Given the description of an element on the screen output the (x, y) to click on. 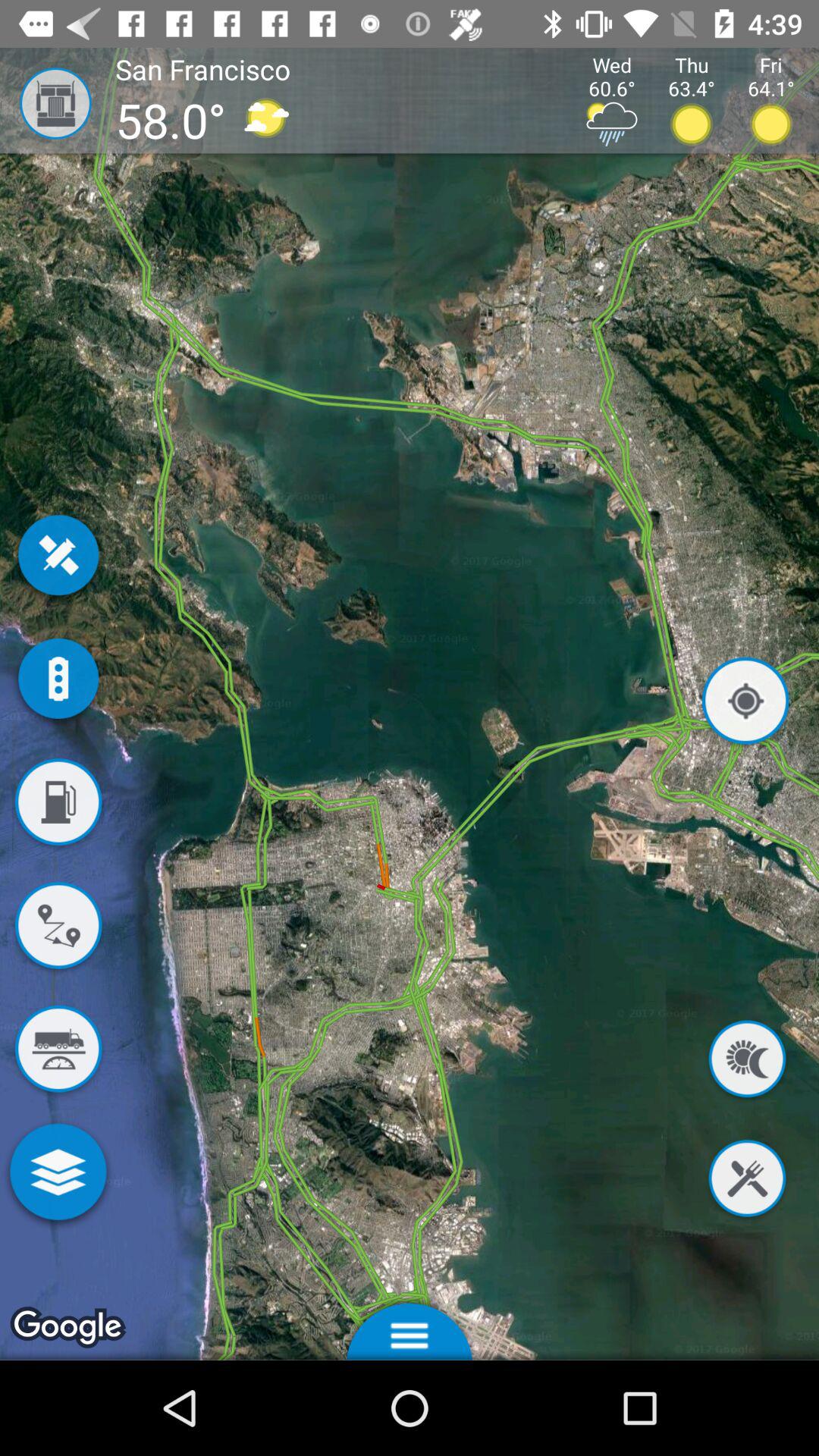
directions (57, 928)
